Given the description of an element on the screen output the (x, y) to click on. 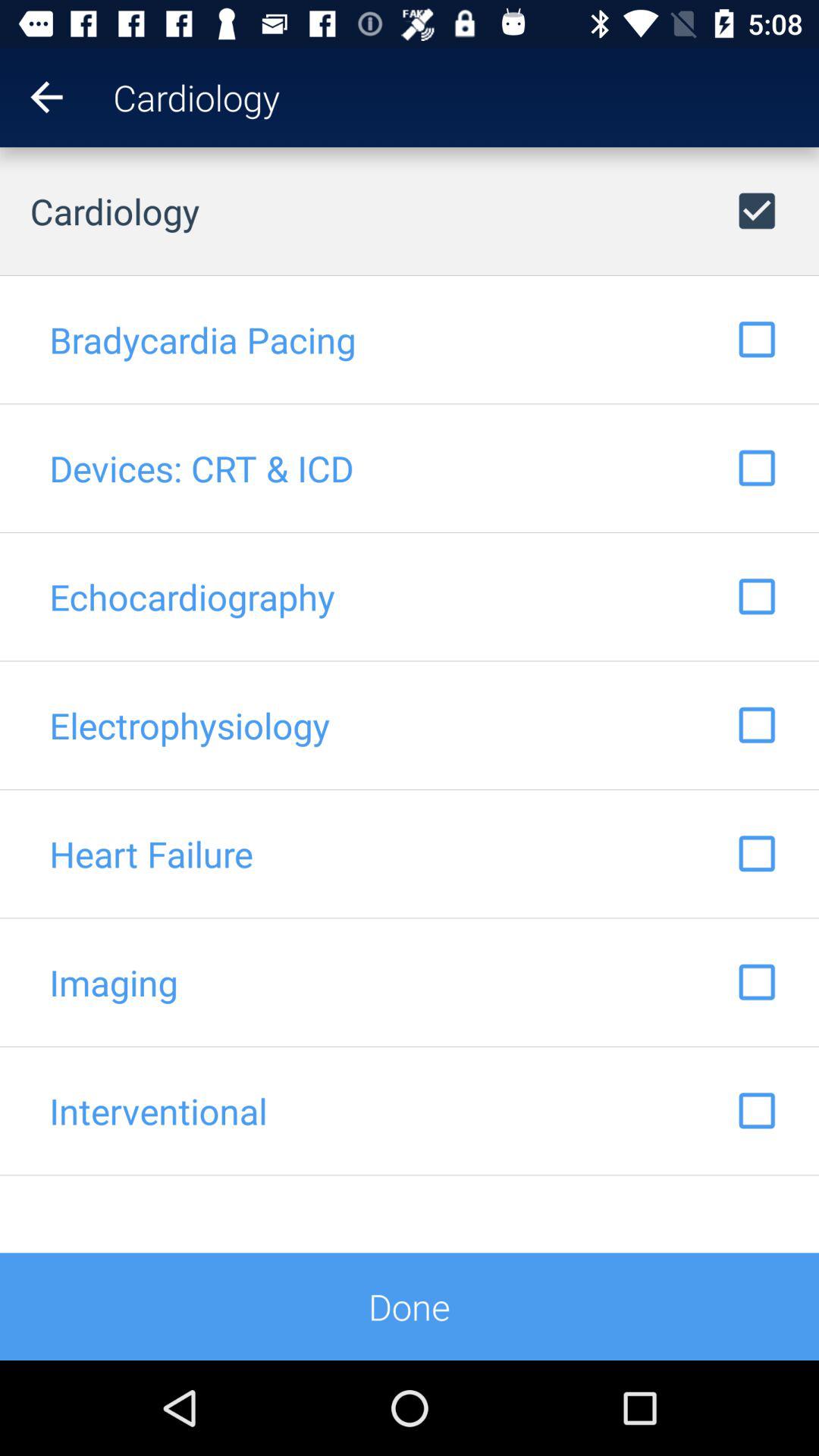
open app to the left of the cardiology app (31, 97)
